Given the description of an element on the screen output the (x, y) to click on. 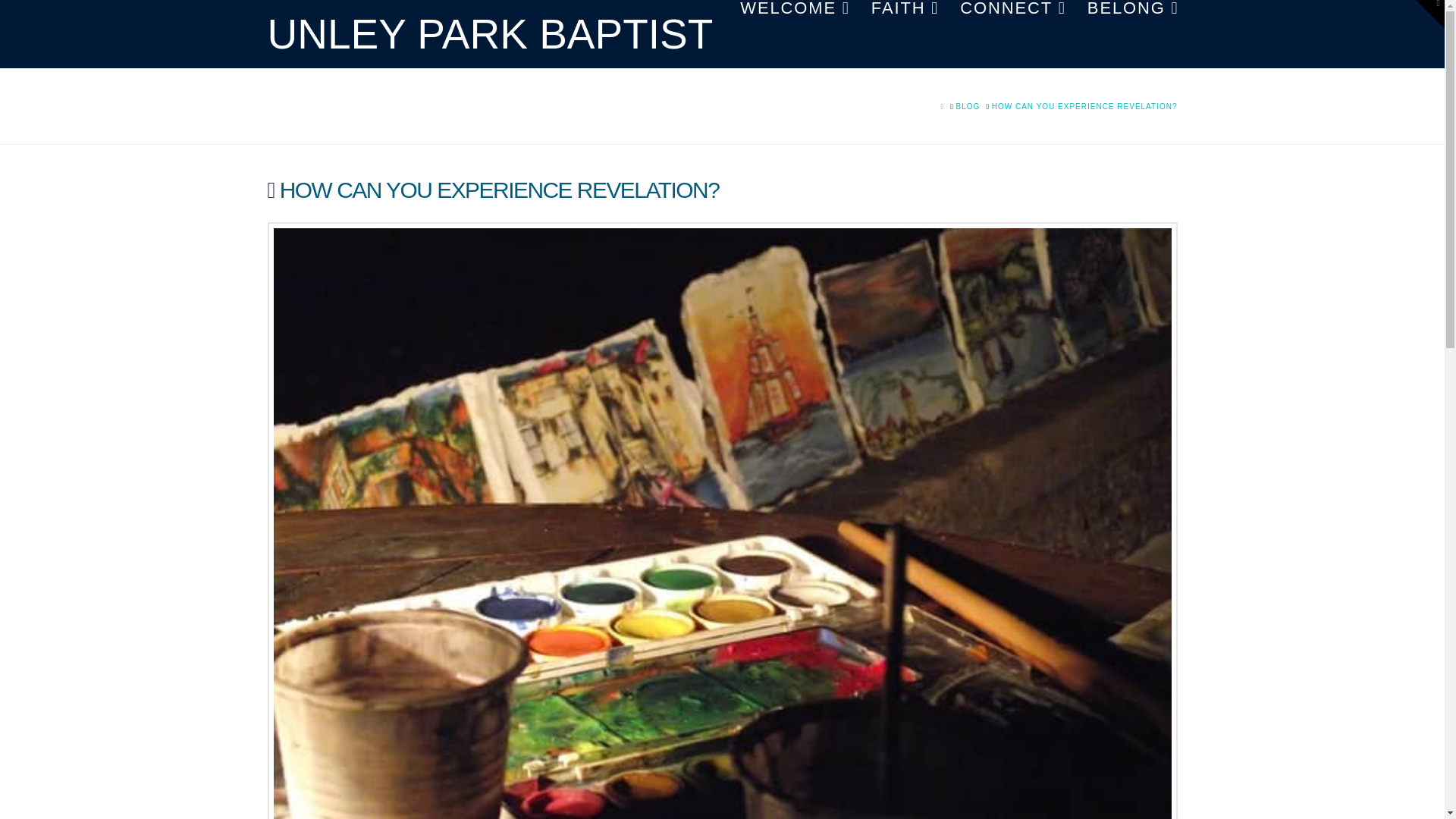
BELONG (1126, 33)
UNLEY PARK BAPTIST (489, 34)
CONNECT (1012, 33)
FAITH (904, 33)
WELCOME (794, 33)
You Are Here (1084, 106)
